Given the description of an element on the screen output the (x, y) to click on. 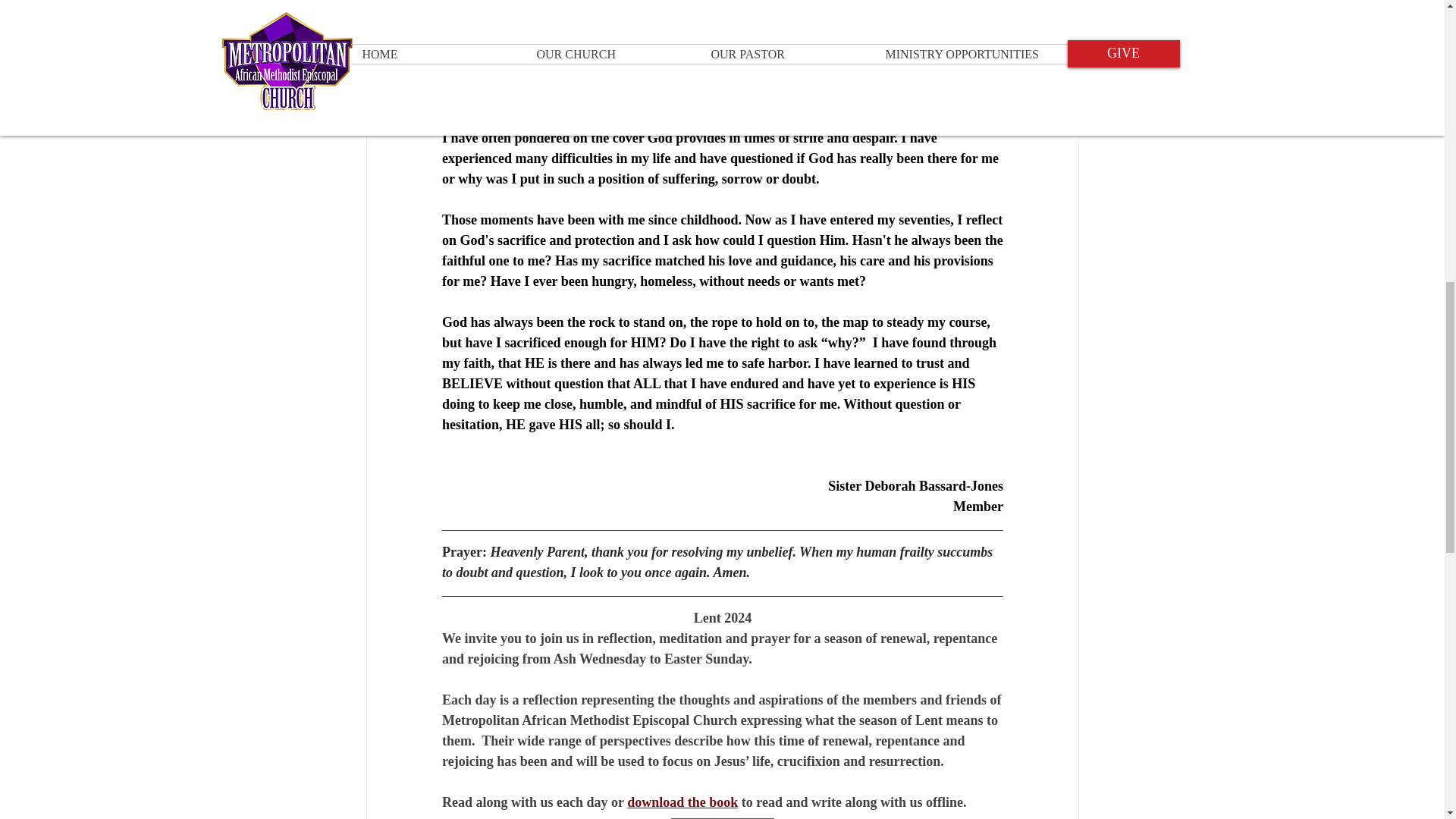
download the book (682, 801)
